Given the description of an element on the screen output the (x, y) to click on. 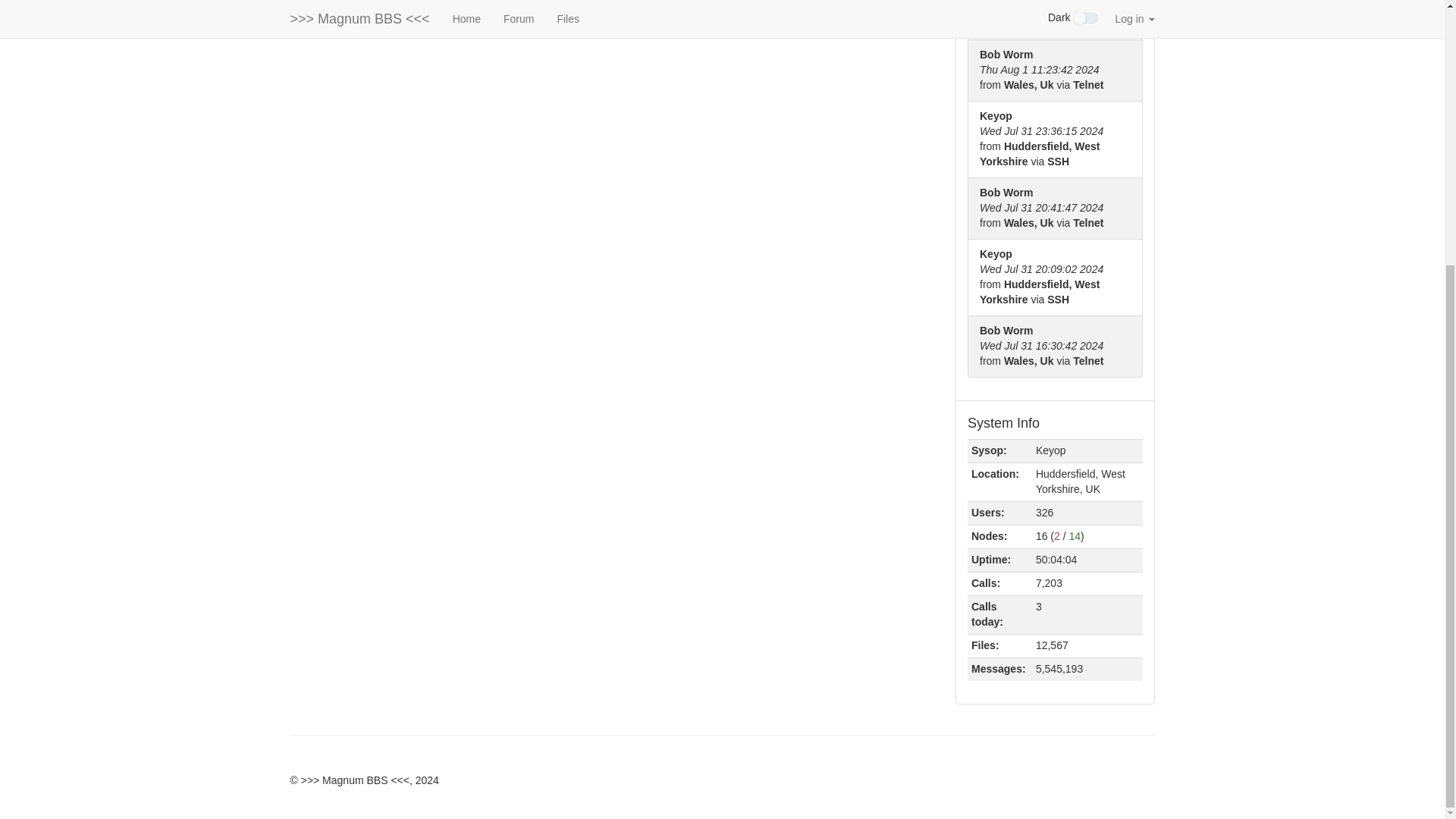
Connect via Telnet (588, 4)
Available (1074, 535)
